Given the description of an element on the screen output the (x, y) to click on. 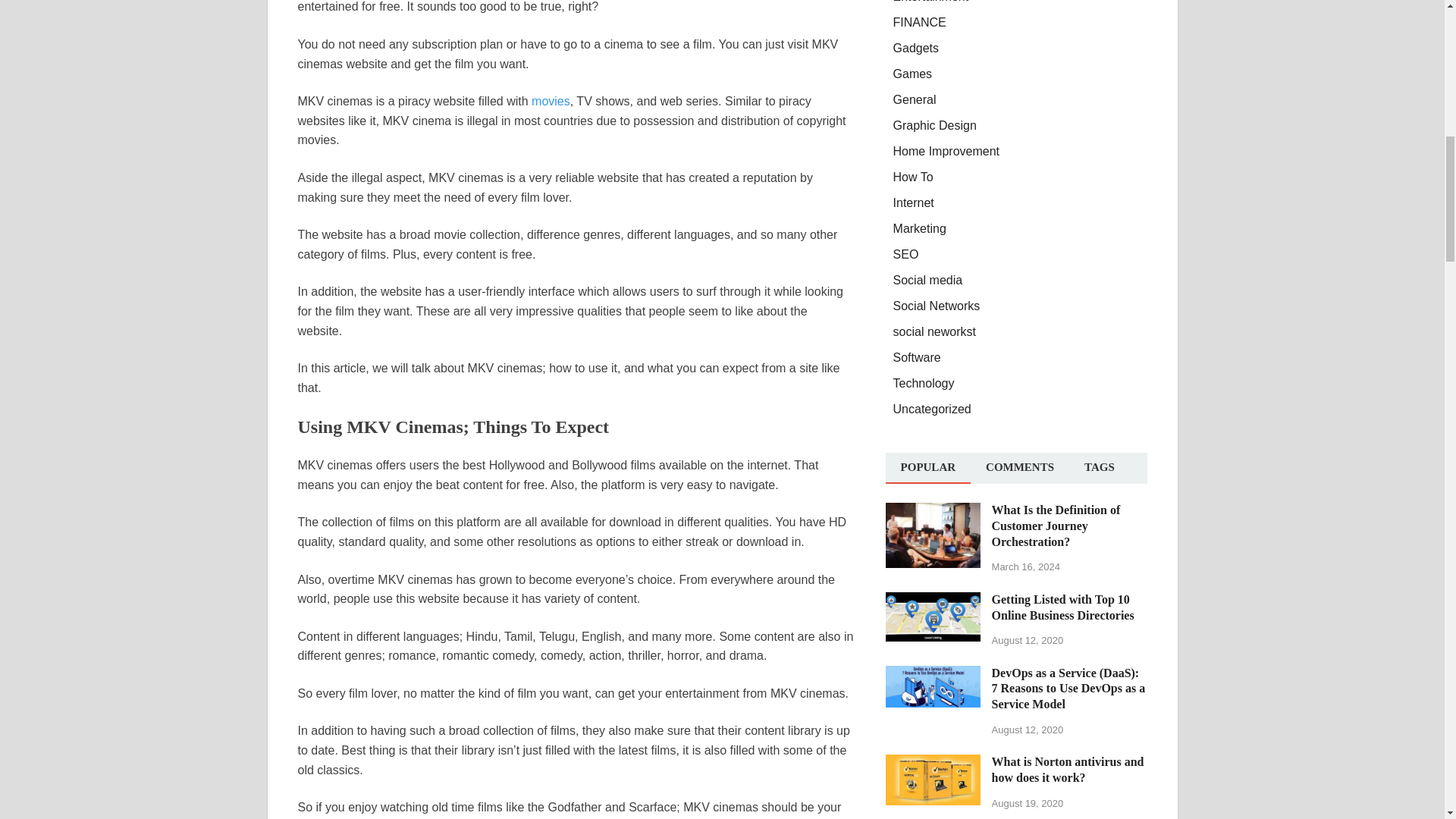
What is Norton antivirus and how does it work? (932, 762)
What Is the Definition of Customer Journey Orchestration? (932, 511)
Getting Listed with Top 10 Online Business Directories (932, 600)
movies (550, 101)
